Given the description of an element on the screen output the (x, y) to click on. 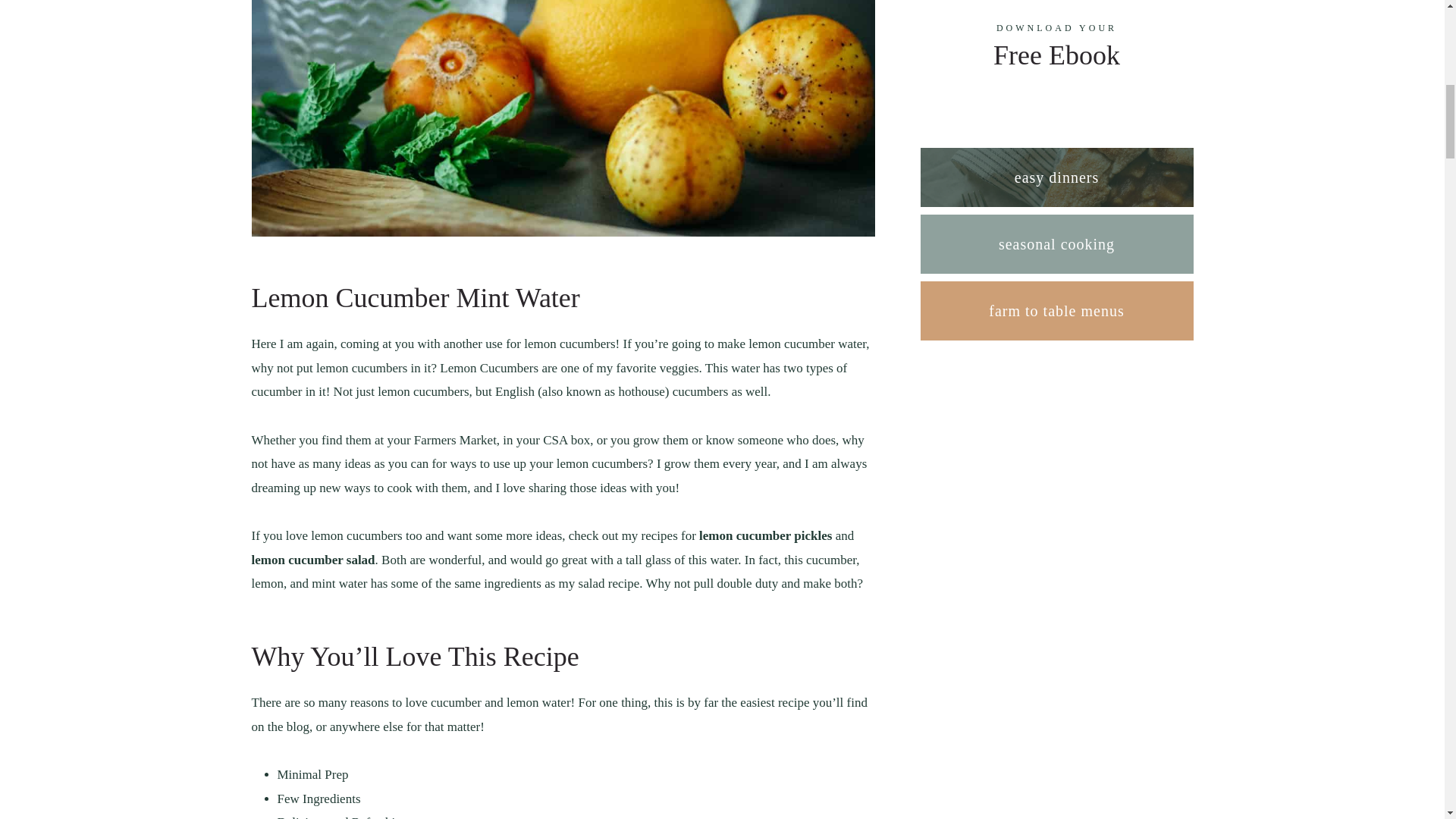
lemon cucumber pickles (764, 535)
lemon cucumber salad (313, 559)
